Given the description of an element on the screen output the (x, y) to click on. 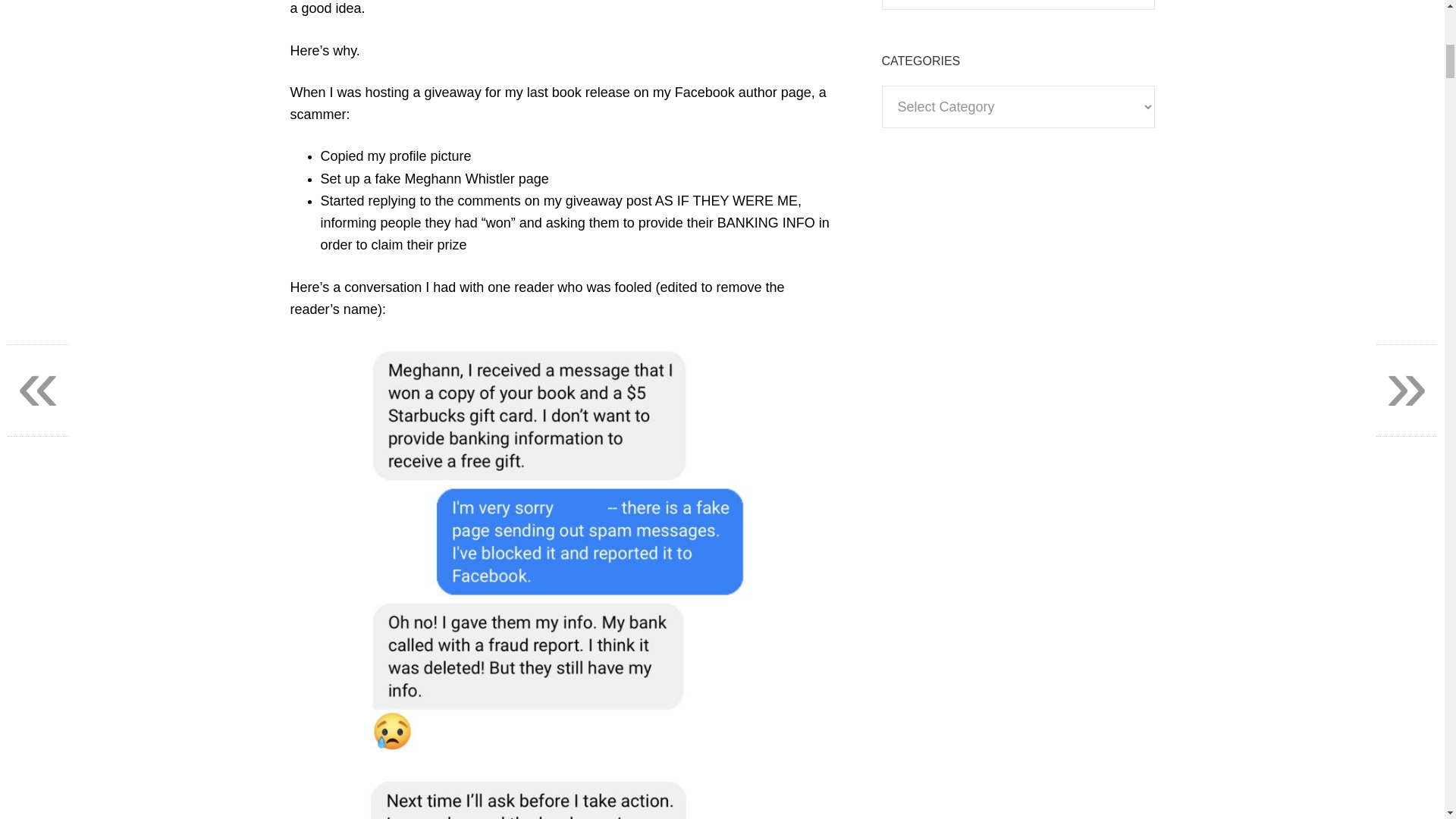
Privacy Policy (924, 180)
Cookie Policy (923, 248)
